Given the description of an element on the screen output the (x, y) to click on. 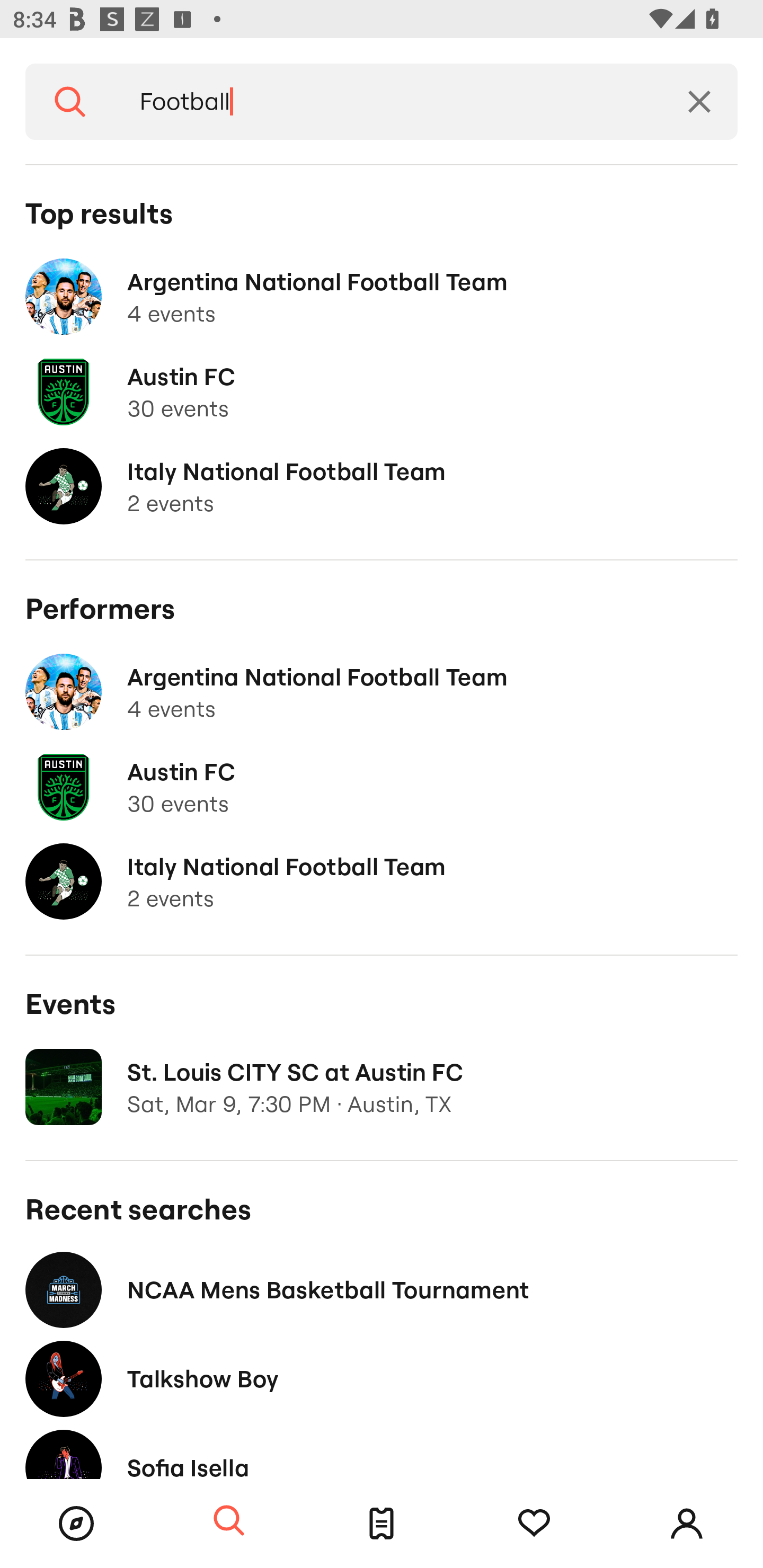
Search (69, 101)
Football (387, 101)
Clear (699, 101)
Argentina National Football Team 4 events (381, 296)
Austin FC 30 events (381, 391)
Italy National Football Team 2 events (381, 486)
Argentina National Football Team 4 events (381, 692)
Austin FC 30 events (381, 787)
Italy National Football Team 2 events (381, 881)
NCAA Mens Basketball Tournament (381, 1289)
Talkshow Boy (381, 1378)
Sofia Isella (381, 1450)
Browse (76, 1523)
Search (228, 1521)
Tickets (381, 1523)
Tracking (533, 1523)
Account (686, 1523)
